Given the description of an element on the screen output the (x, y) to click on. 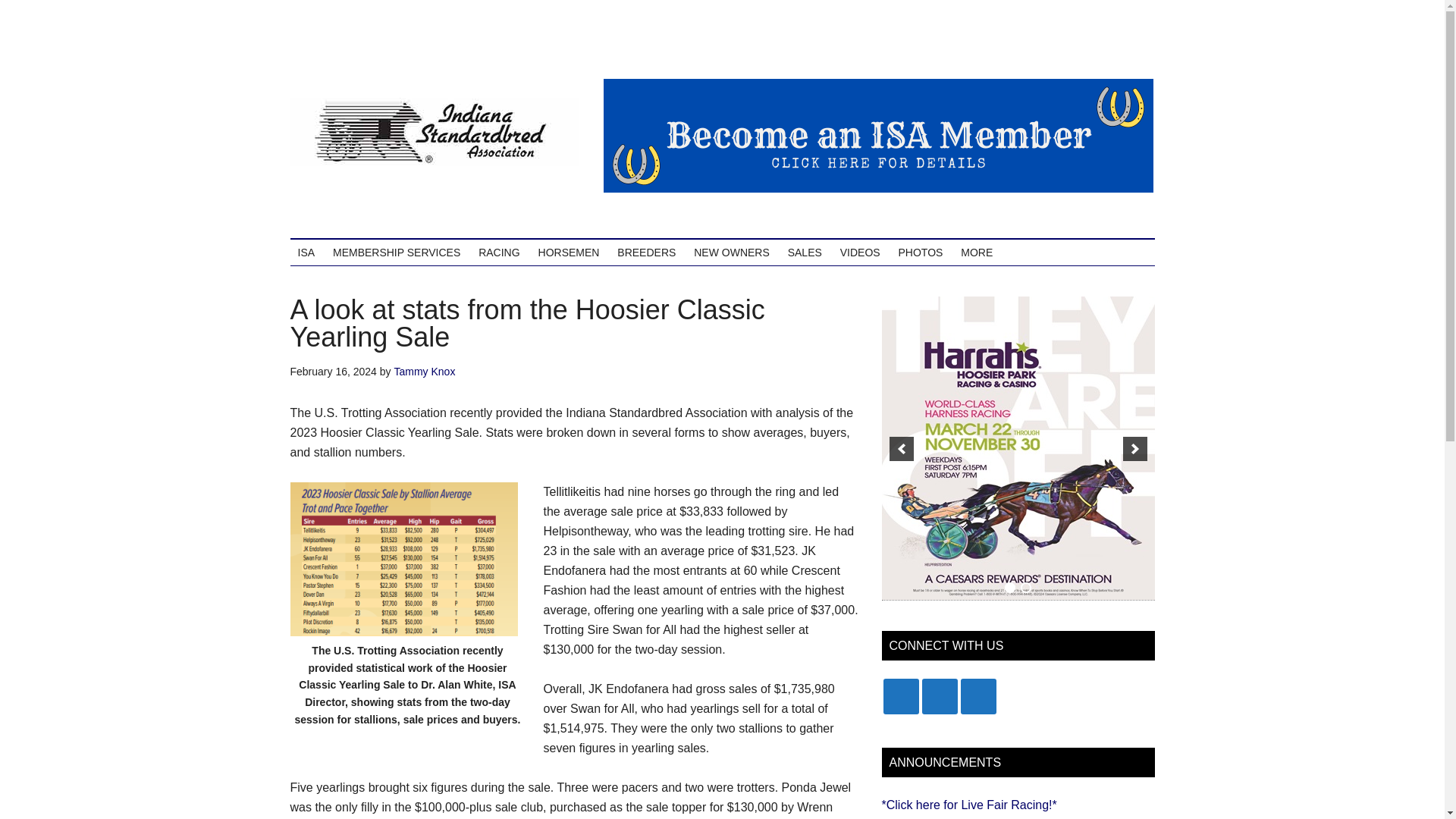
ISA (305, 252)
MEMBERSHIP SERVICES (395, 252)
Indiana Harness (433, 131)
RACING (498, 252)
